Given the description of an element on the screen output the (x, y) to click on. 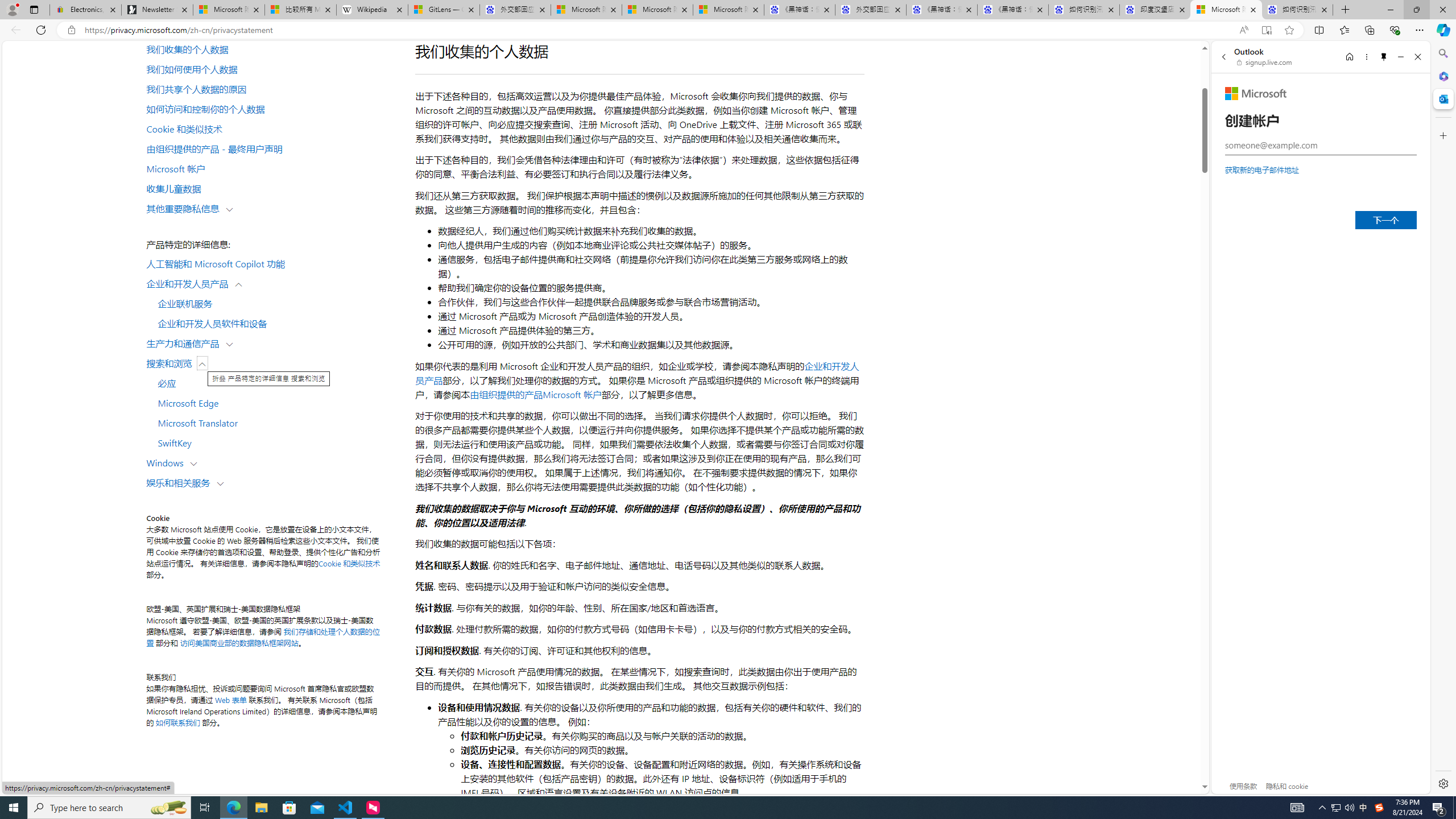
Newsletter Sign Up (157, 9)
Microsoft Translator (274, 422)
Microsoft Edge (274, 402)
